Given the description of an element on the screen output the (x, y) to click on. 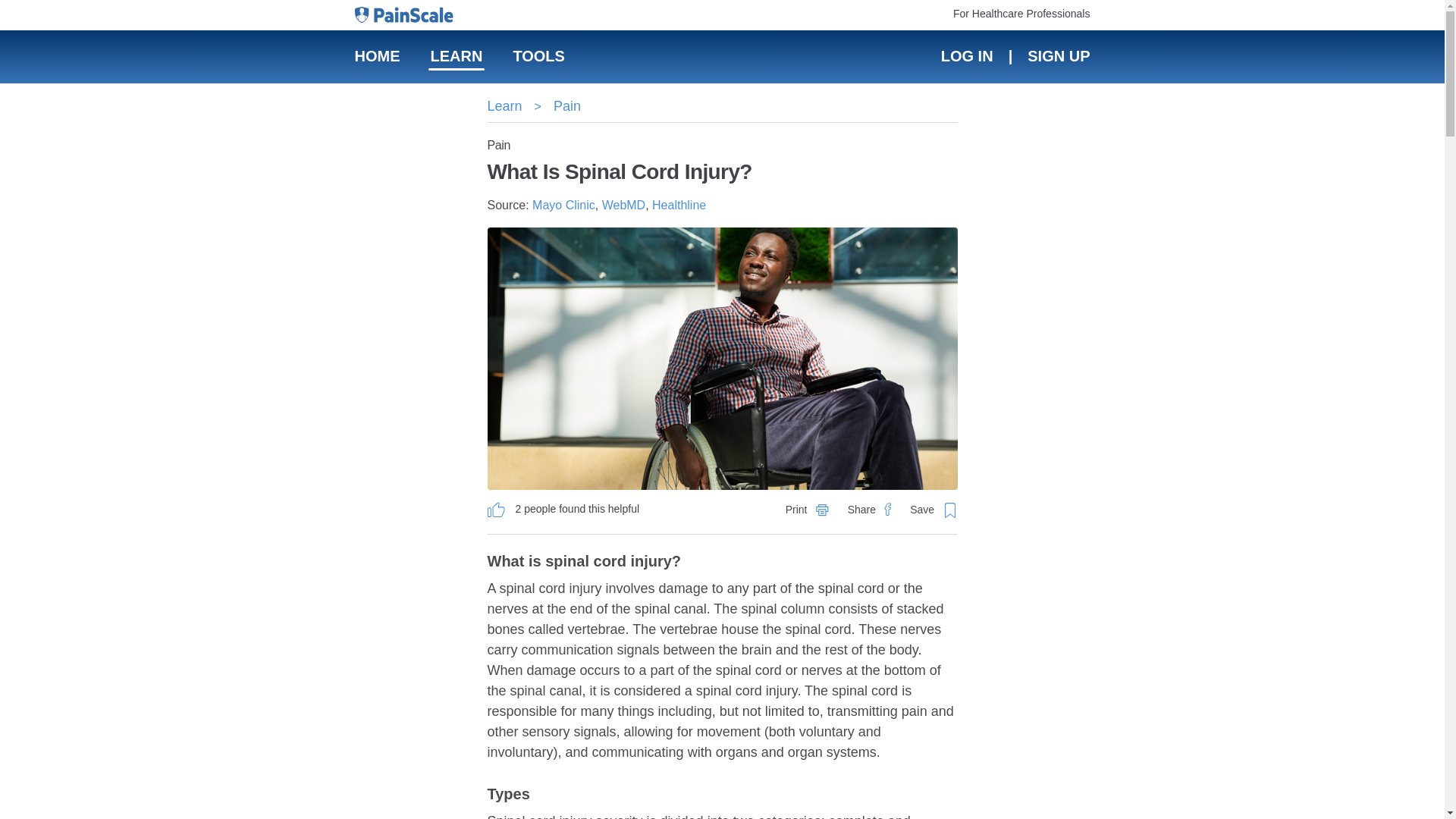
SIGN UP (1056, 55)
For Healthcare Professionals (1021, 13)
TOOLS (538, 55)
LEARN (456, 55)
Healthline (679, 205)
WebMD (624, 205)
Mayo Clinic (563, 205)
Pain (566, 105)
LOG IN (966, 55)
Learn (503, 105)
